Given the description of an element on the screen output the (x, y) to click on. 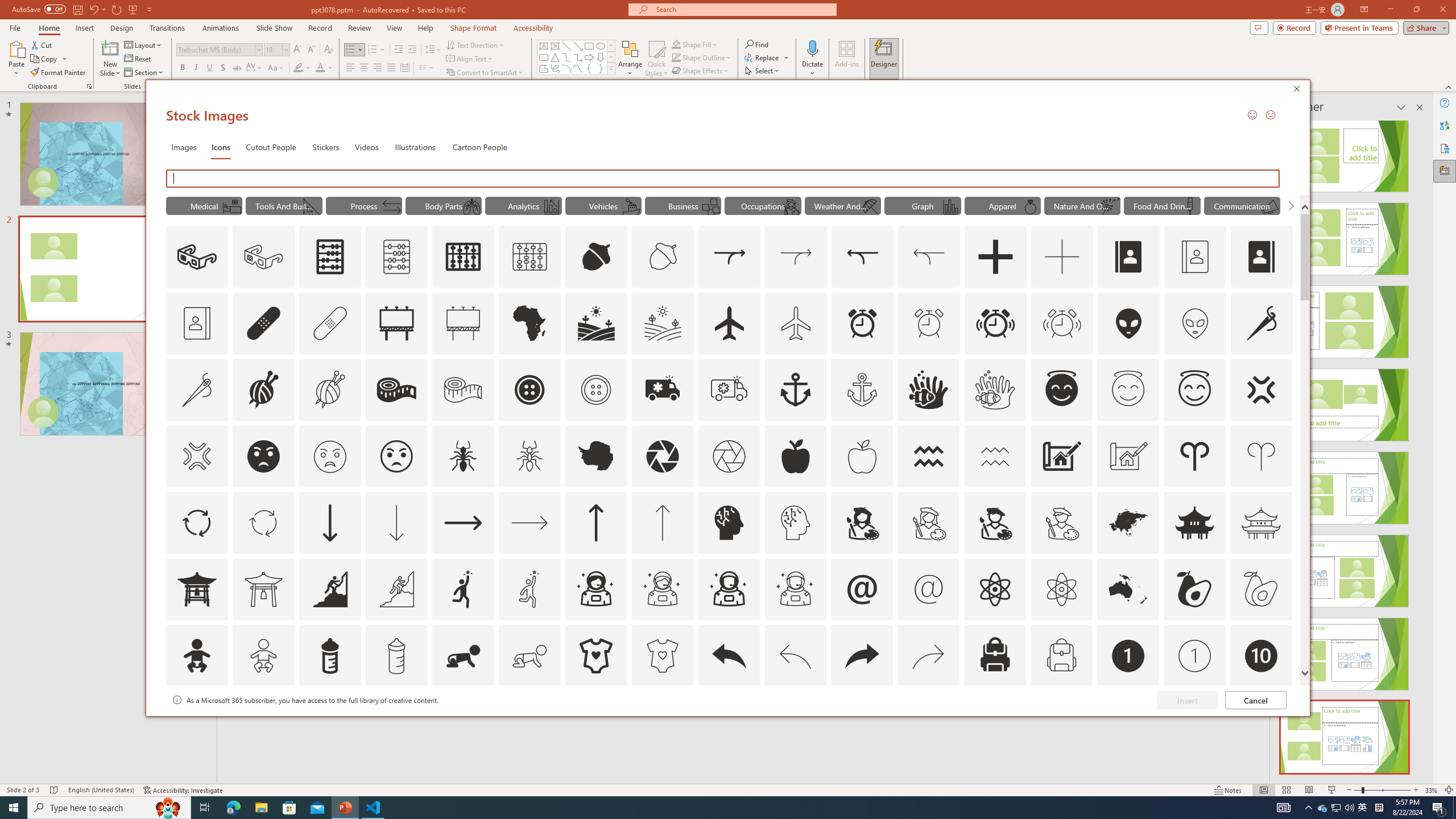
AutomationID: Icons_Ant_M (529, 455)
AutomationID: Icons_Acquisition_RTL_M (928, 256)
